Given the description of an element on the screen output the (x, y) to click on. 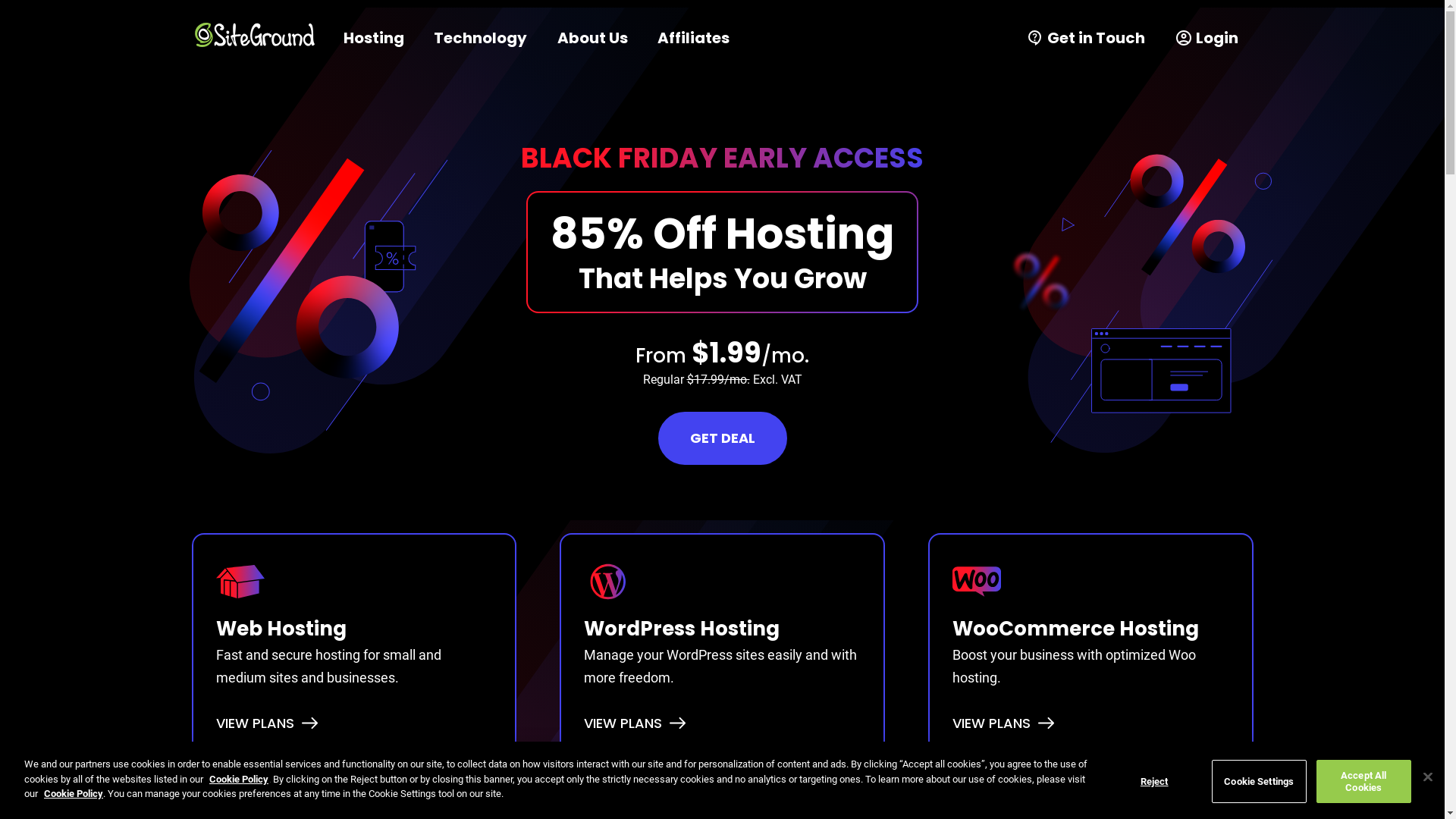
SiteGround Element type: hover (253, 34)
VIEW PLANS Element type: text (254, 723)
Cookie Settings Element type: text (1258, 781)
Affiliates Element type: text (693, 37)
VIEW PLANS Element type: text (622, 723)
Cookie Policy Element type: text (73, 793)
Reject Element type: text (1154, 781)
Accept All Cookies Element type: text (1363, 781)
GET DEAL Element type: text (722, 437)
Get in Touch Element type: text (1085, 37)
Login Element type: text (1206, 37)
VIEW PLANS Element type: text (991, 723)
Cookie Policy Element type: text (238, 778)
